Given the description of an element on the screen output the (x, y) to click on. 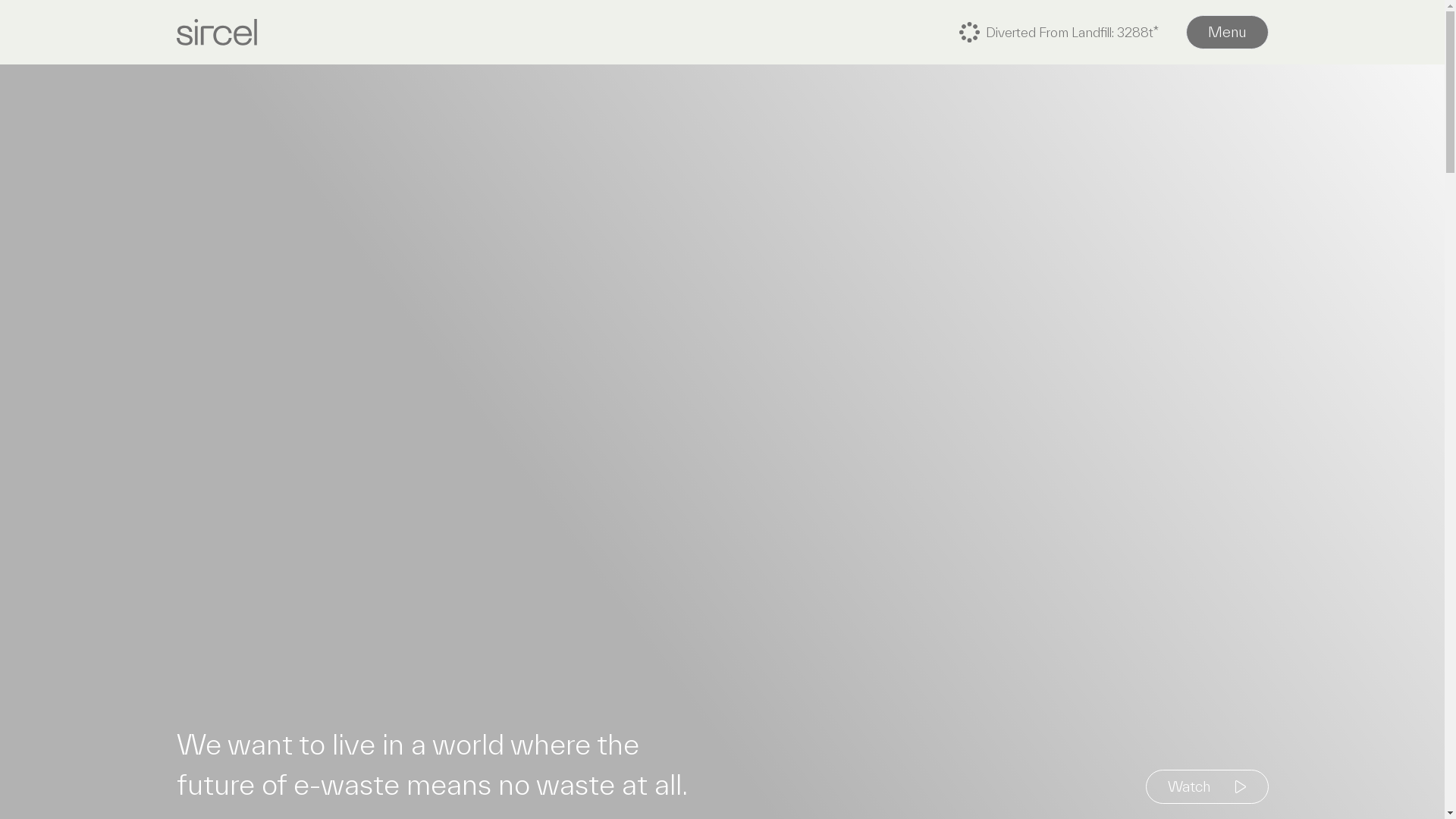
Watch Element type: text (1206, 786)
Diverted From Landfill: Element type: text (1154, 31)
Menu Element type: text (1227, 32)
